Given the description of an element on the screen output the (x, y) to click on. 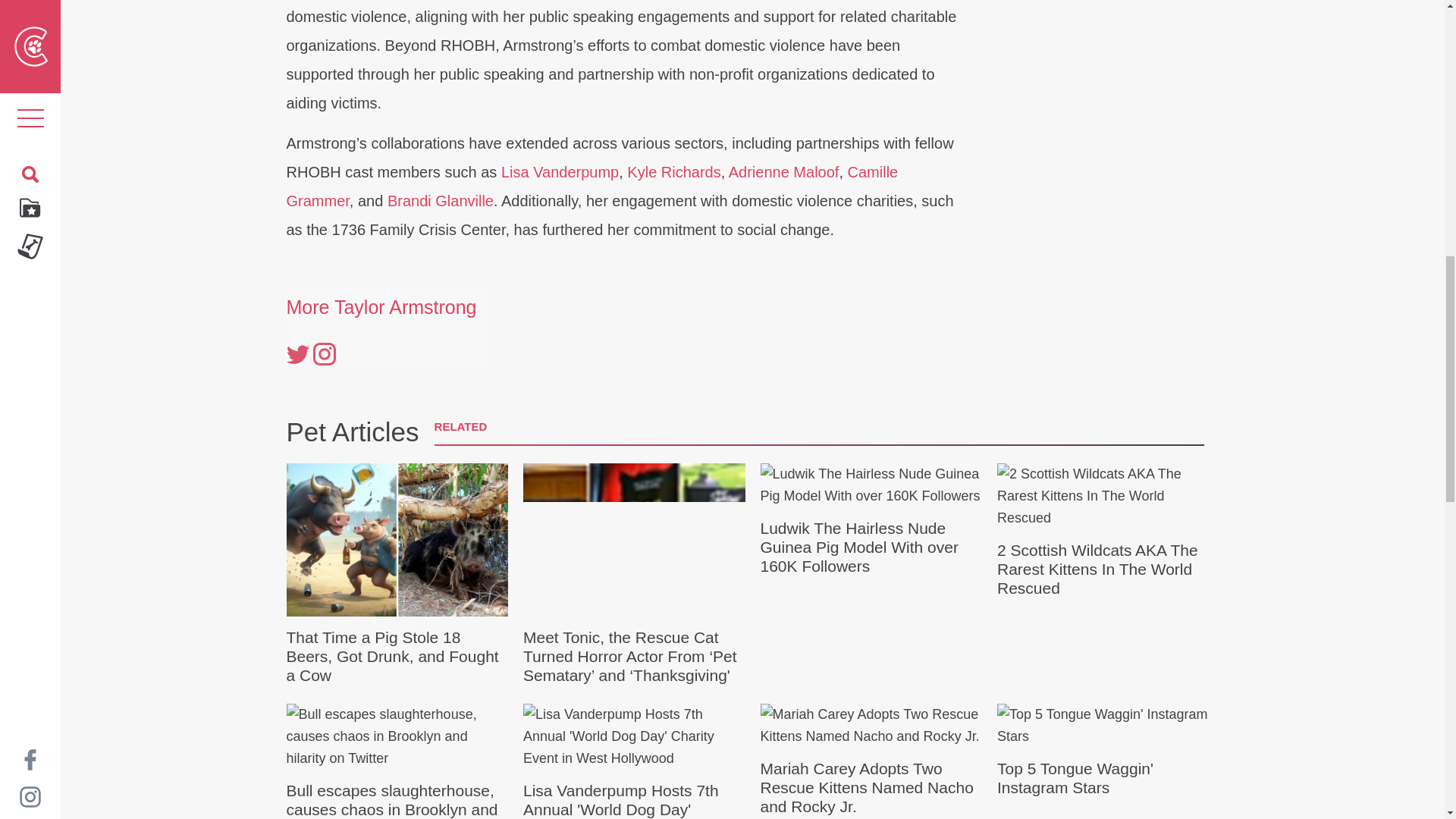
Taylor Armstrong's Twitter (297, 352)
That Time a Pig Stole 18 Beers, Got Drunk, and Fought a Cow (397, 573)
Taylor Armstrong's Instagram (323, 352)
